Given the description of an element on the screen output the (x, y) to click on. 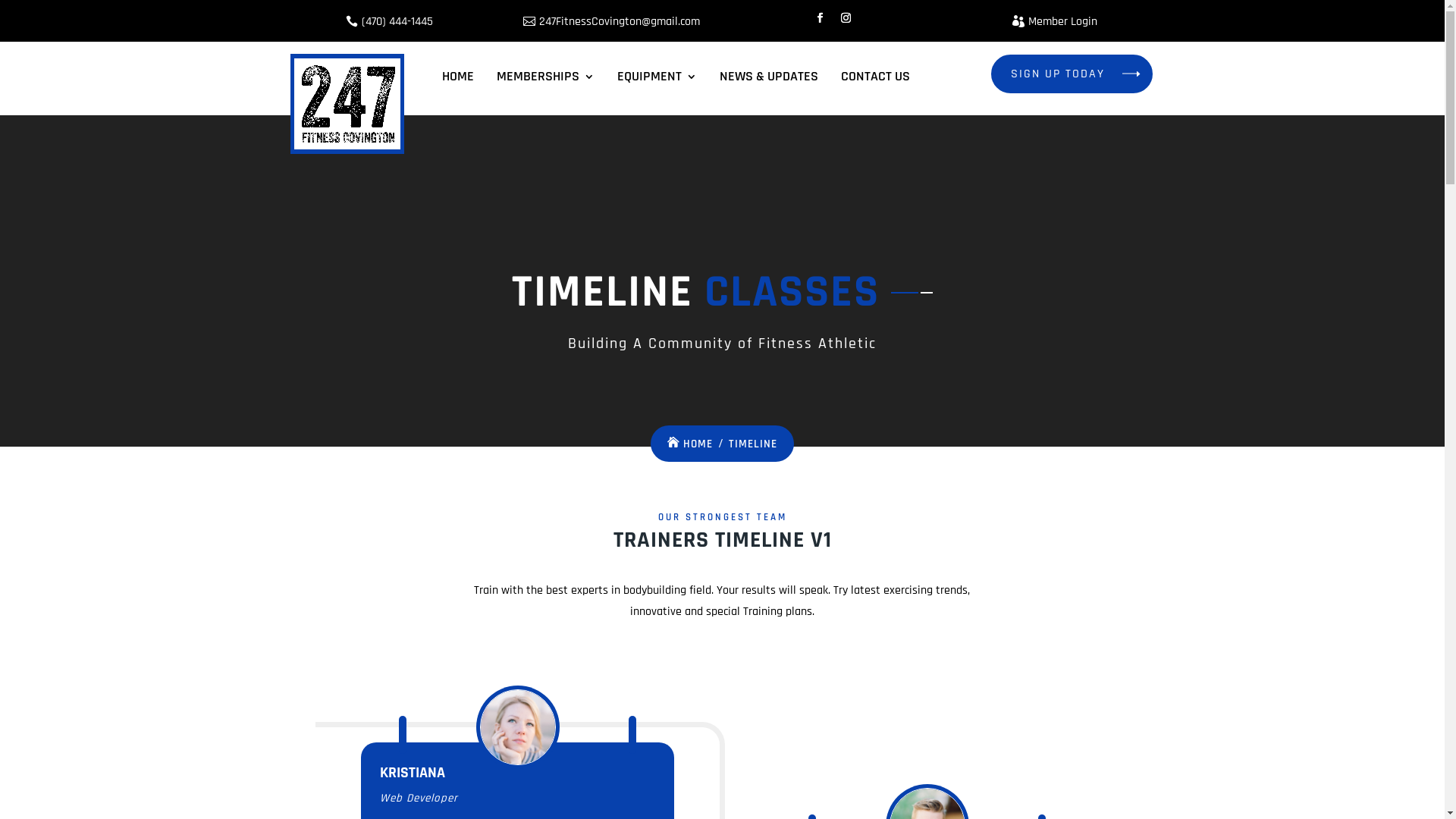
CONTACT US Element type: text (875, 76)
MEMBERSHIPS Element type: text (545, 76)
Follow on Facebook Element type: hover (820, 18)
HOME Element type: text (457, 76)
HOME Element type: text (690, 443)
(470) 444-1445 Element type: text (389, 19)
Member Login Element type: text (1054, 19)
TIMELINE Element type: text (752, 443)
247FitnessCovington@gmail.com Element type: text (611, 19)
NEWS & UPDATES Element type: text (768, 76)
Follow on Instagram Element type: hover (846, 18)
SIGN UP TODAY Element type: text (1071, 73)
EQUIPMENT Element type: text (656, 76)
